Given the description of an element on the screen output the (x, y) to click on. 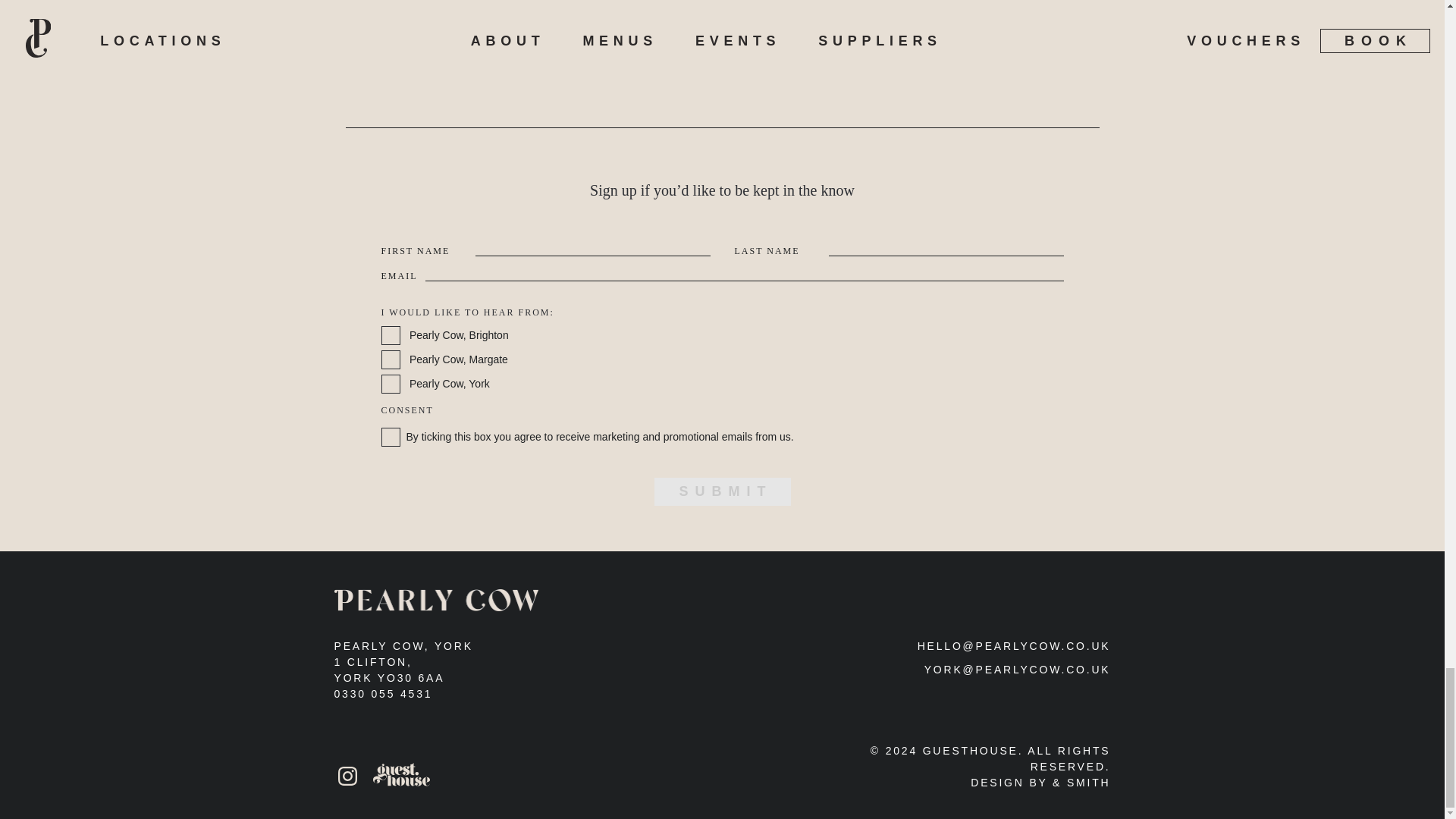
1 (389, 436)
WINE LIST (722, 43)
Pearly Cow, Margate (389, 359)
Pearly Cow, York (389, 383)
SUBMIT (721, 491)
Pearly Cow, Brighton (389, 334)
